Given the description of an element on the screen output the (x, y) to click on. 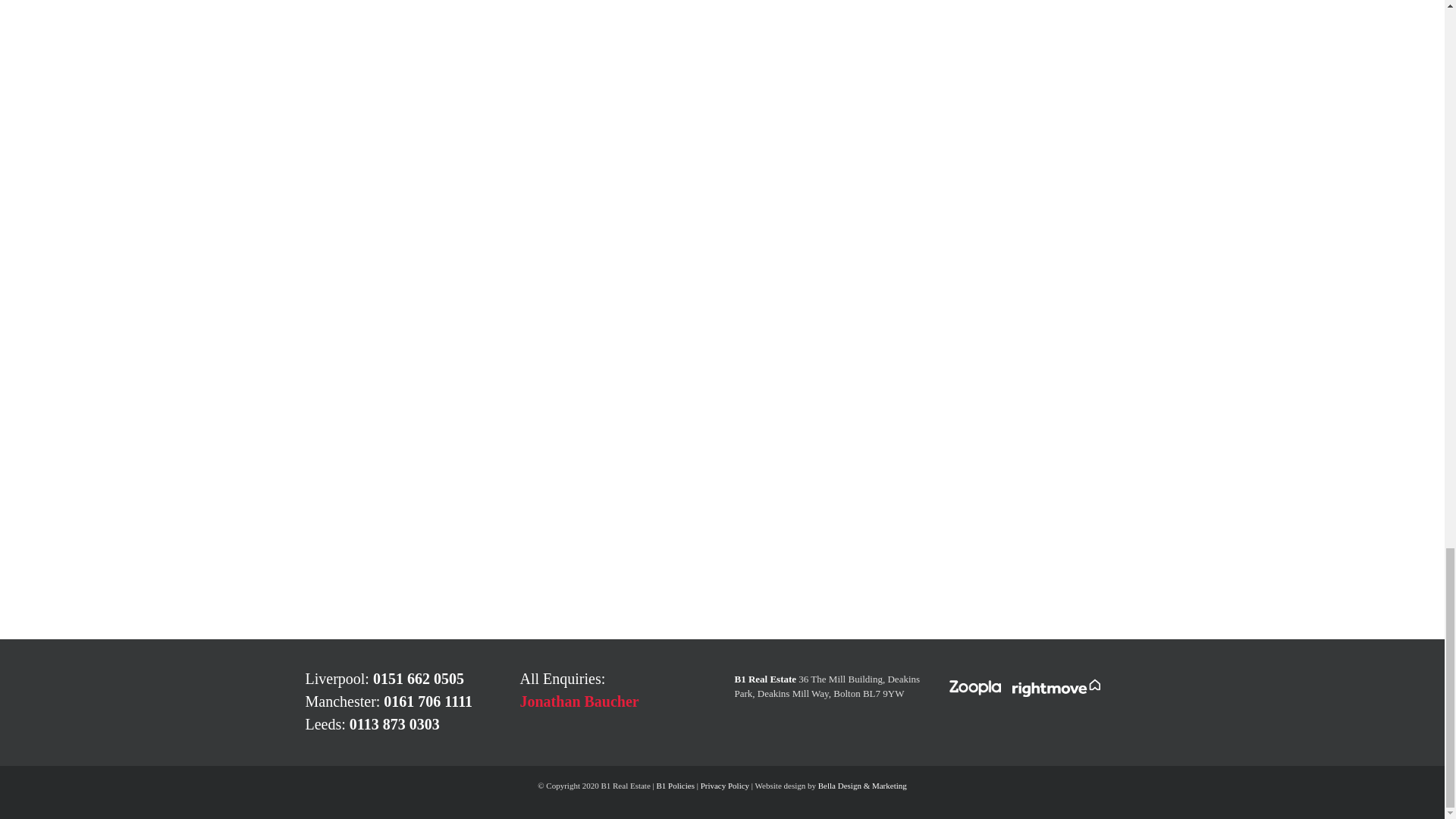
Jonathan Baucher (579, 701)
B1 Policies (675, 785)
Privacy Policy (724, 785)
